Given the description of an element on the screen output the (x, y) to click on. 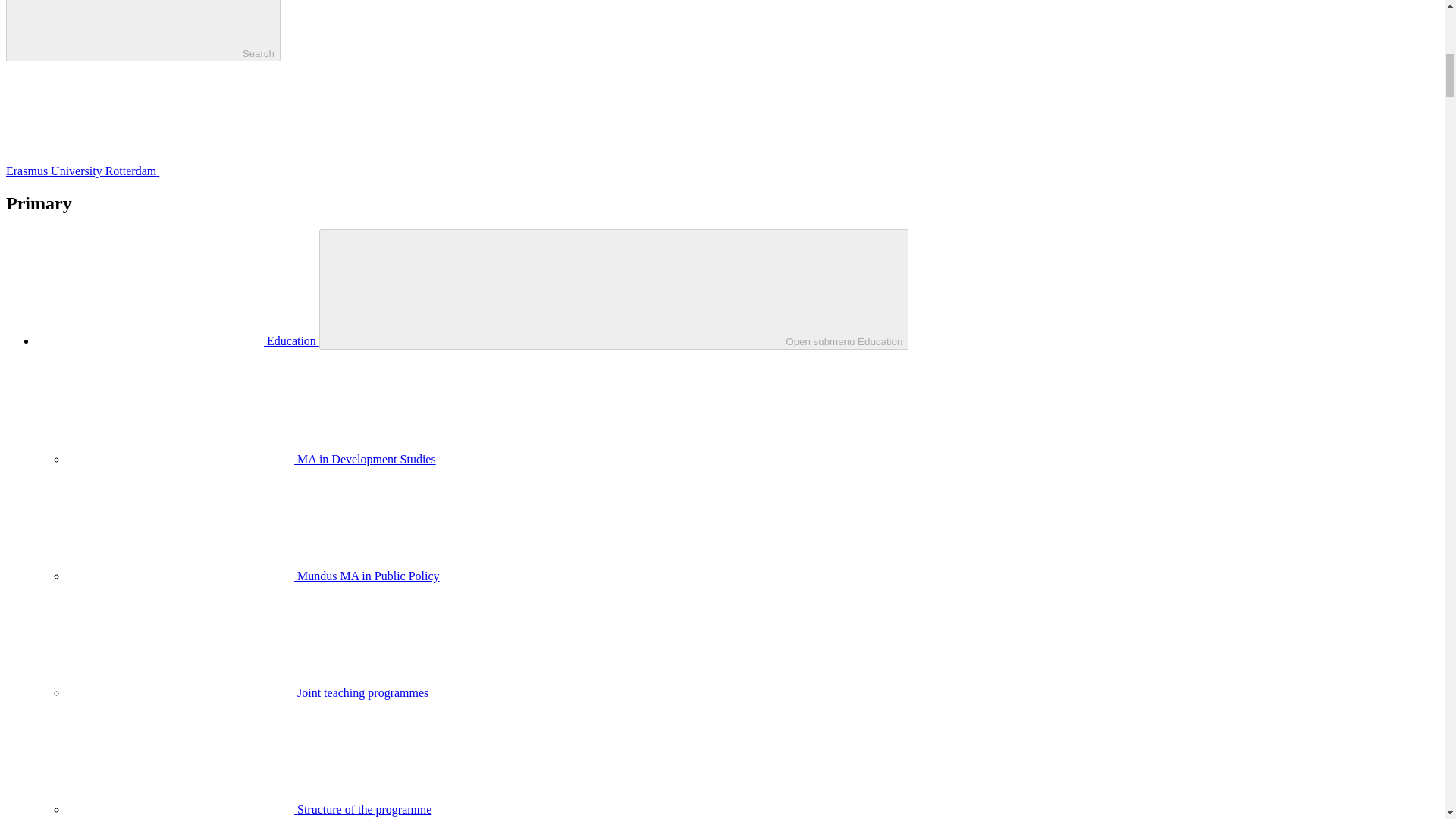
Structure of the programme (248, 809)
Erasmus University Rotterdam (196, 170)
Search (143, 30)
Joint teaching programmes (247, 692)
Open submenu Education (613, 289)
Education (177, 340)
Mundus MA in Public Policy (252, 575)
MA in Development Studies (250, 459)
